Given the description of an element on the screen output the (x, y) to click on. 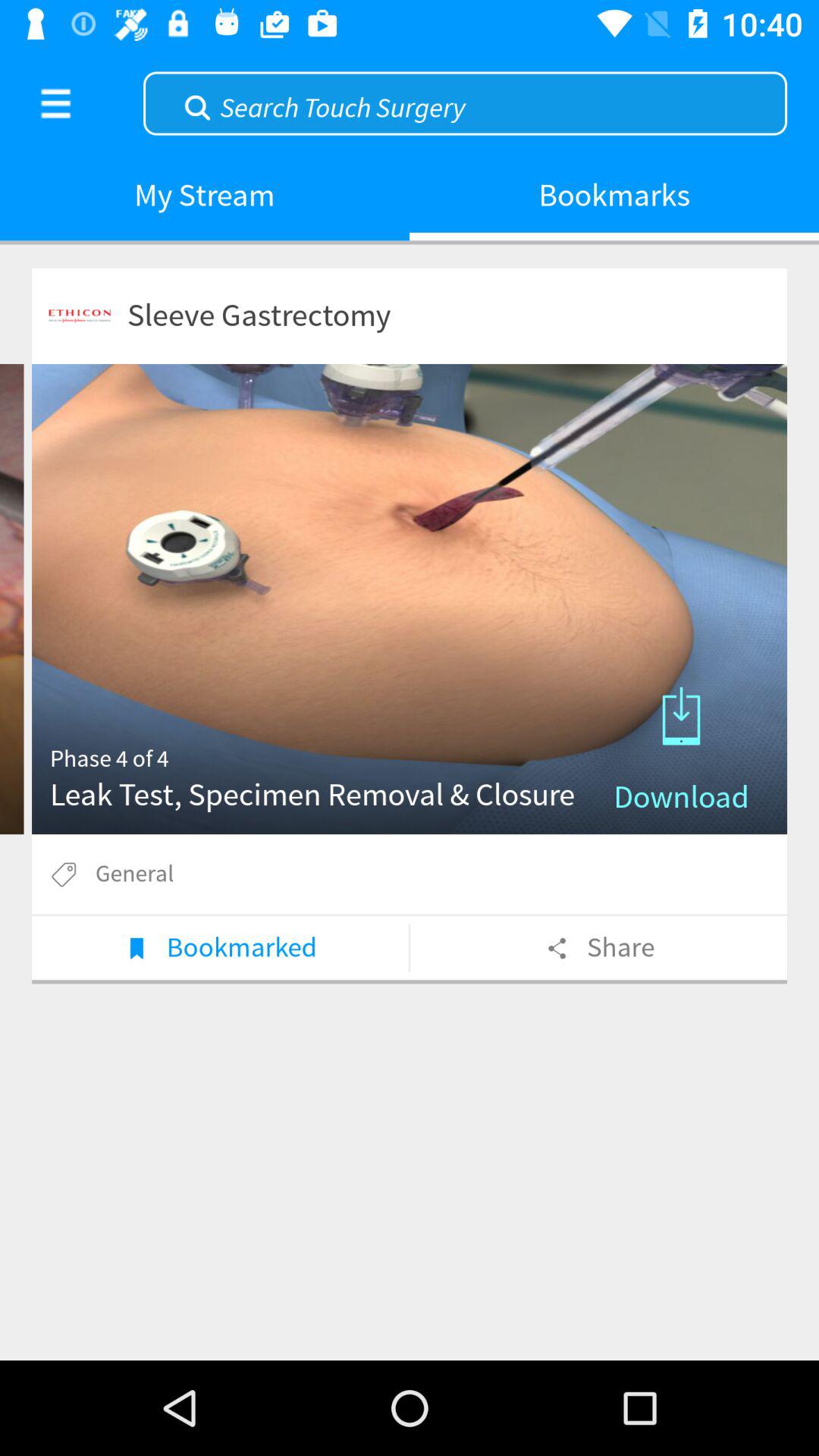
download (409, 599)
